Given the description of an element on the screen output the (x, y) to click on. 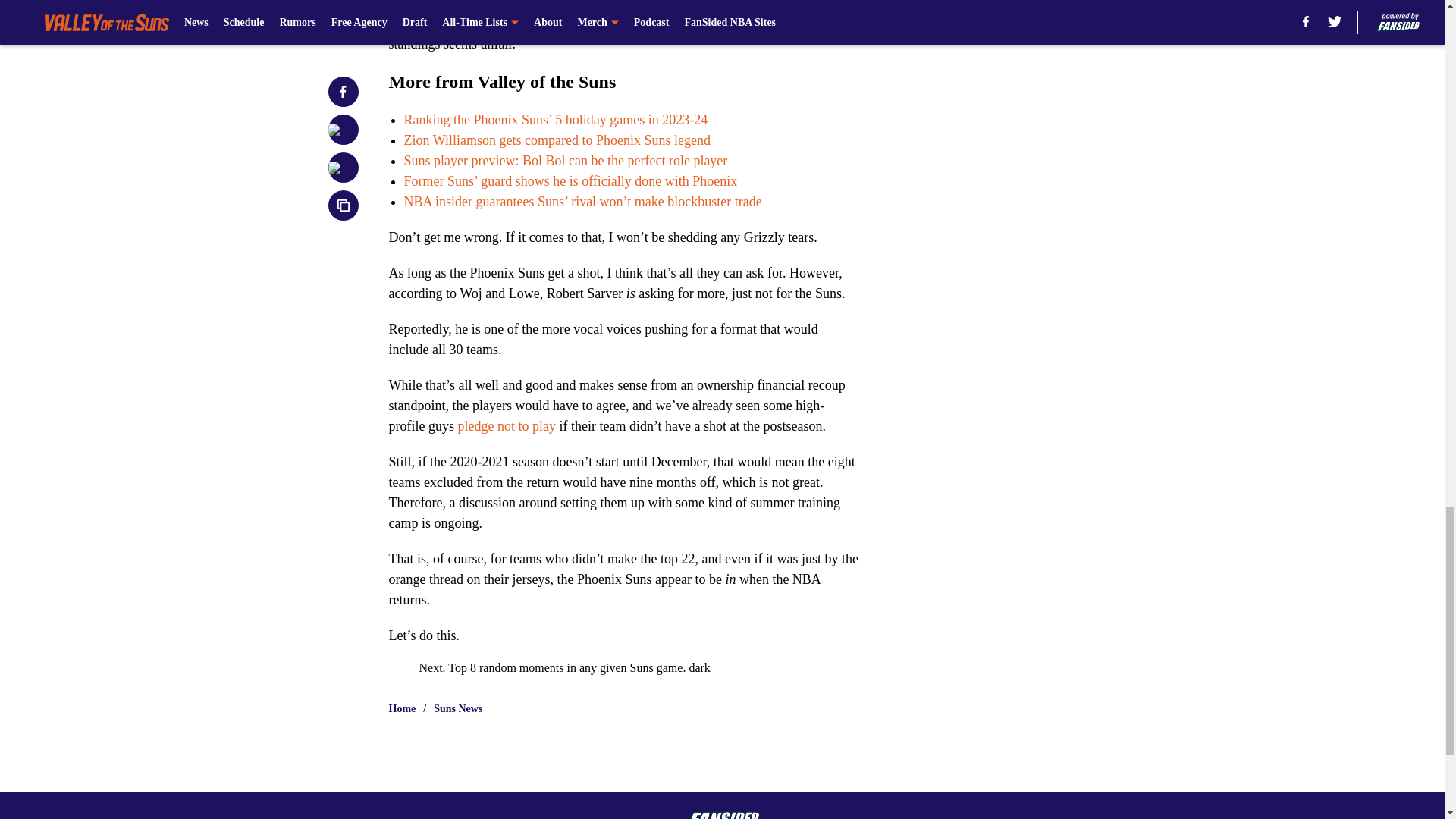
Home (401, 708)
pledge not to play (505, 426)
Suns News (457, 708)
Suns player preview: Bol Bol can be the perfect role player (564, 160)
Zion Williamson gets compared to Phoenix Suns legend (556, 140)
